Given the description of an element on the screen output the (x, y) to click on. 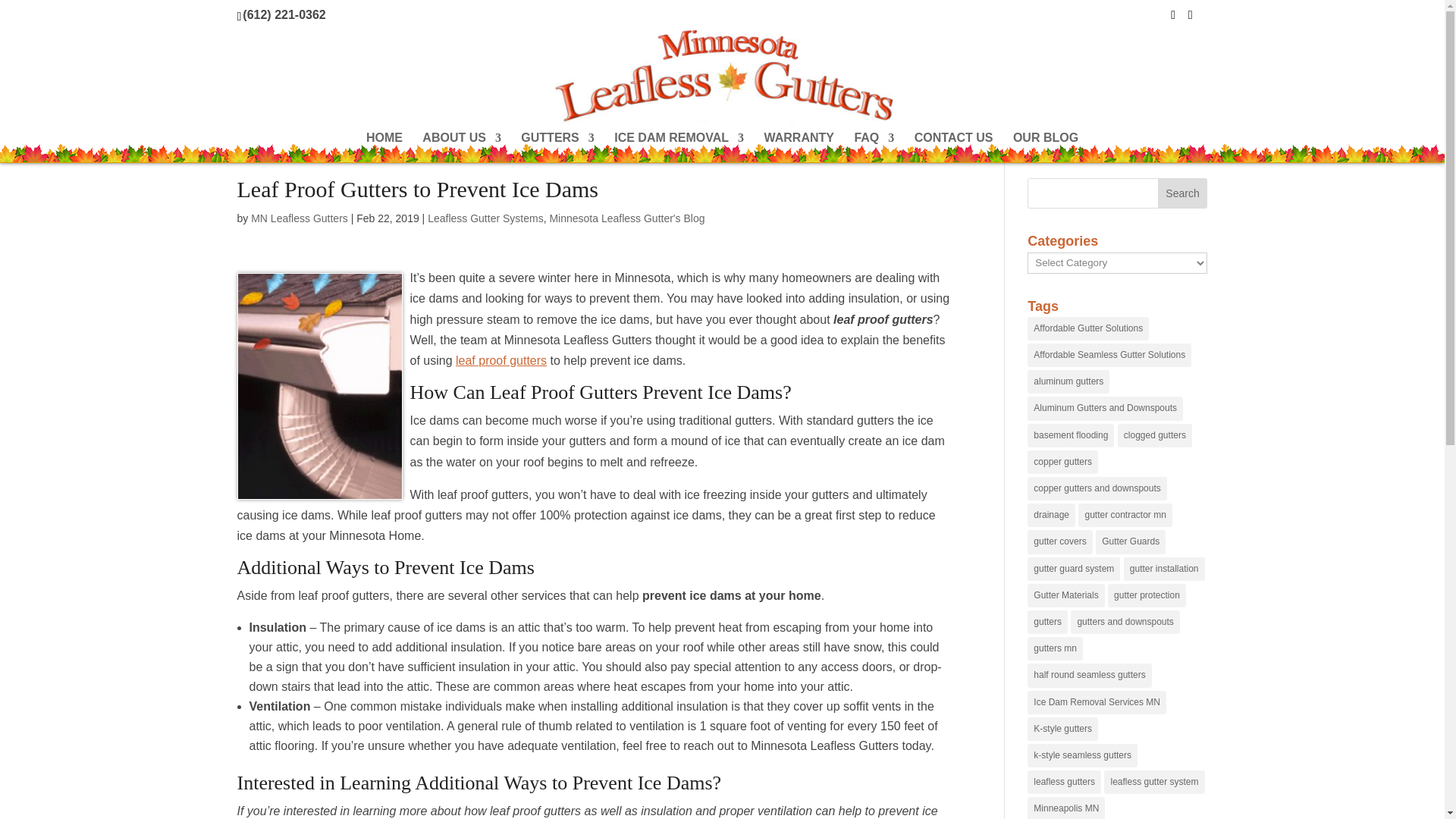
ABOUT US (461, 147)
MN Leafless Gutters (298, 218)
Leafless Gutter Systems (485, 218)
aluminum gutters (1068, 381)
HOME (384, 147)
OUR BLOG (1045, 147)
Posts by MN Leafless Gutters (298, 218)
Minnesota Leafless Gutter's Blog (626, 218)
GUTTERS (557, 147)
copper gutters and downspouts (1096, 488)
Affordable Seamless Gutter Solutions (1109, 354)
gutter contractor mn (1125, 515)
FAQ (873, 147)
basement flooding (1070, 435)
clogged gutters (1155, 435)
